Given the description of an element on the screen output the (x, y) to click on. 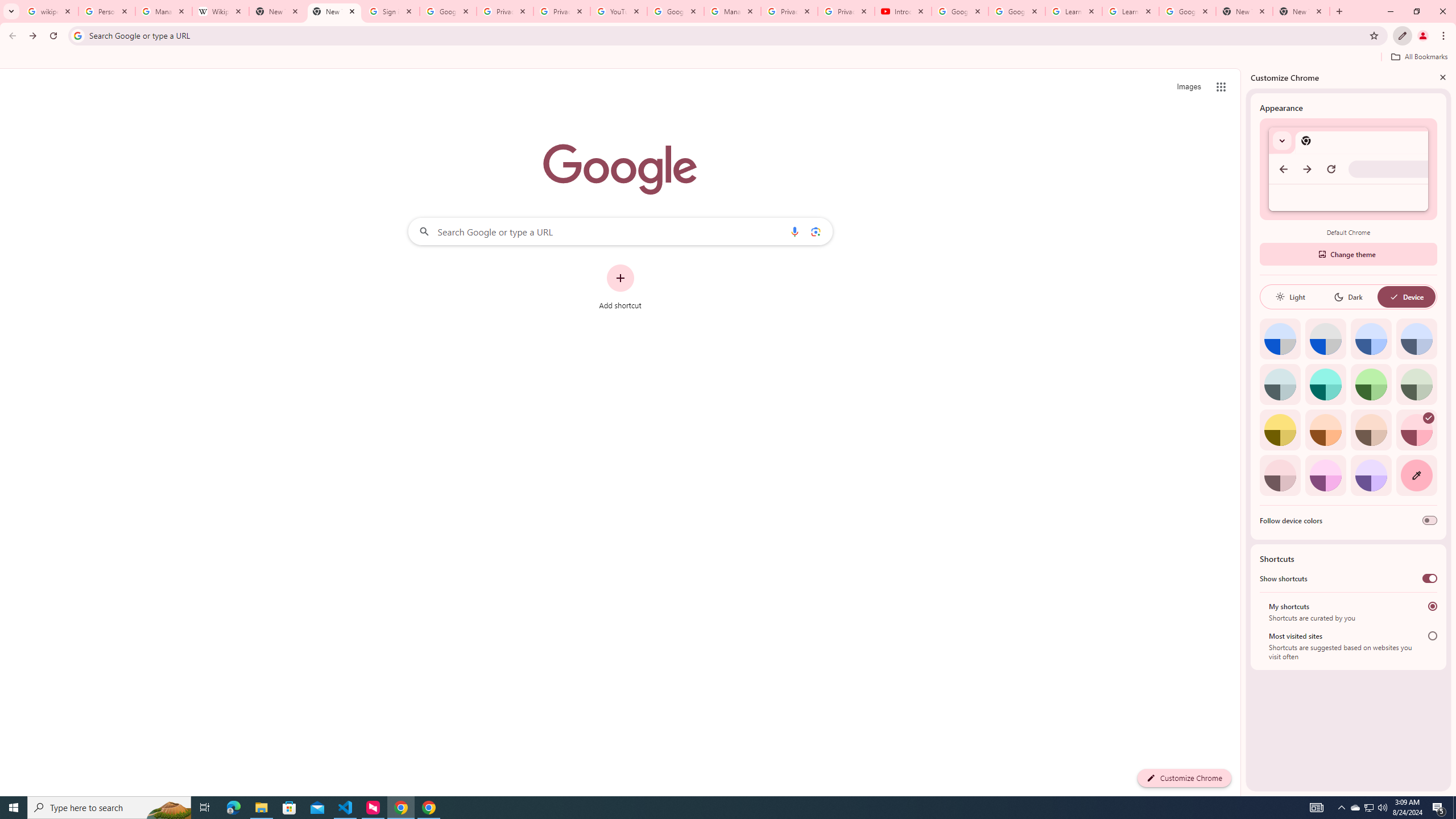
Device (1406, 296)
Google Account Help (675, 11)
All Bookmarks (1418, 56)
Light (1289, 296)
Wikipedia:Edit requests - Wikipedia (220, 11)
Most visited sites (1432, 635)
Aqua (1325, 383)
Google Drive: Sign-in (447, 11)
Fuchsia (1325, 475)
Orange (1325, 429)
Custom color (1416, 475)
